Given the description of an element on the screen output the (x, y) to click on. 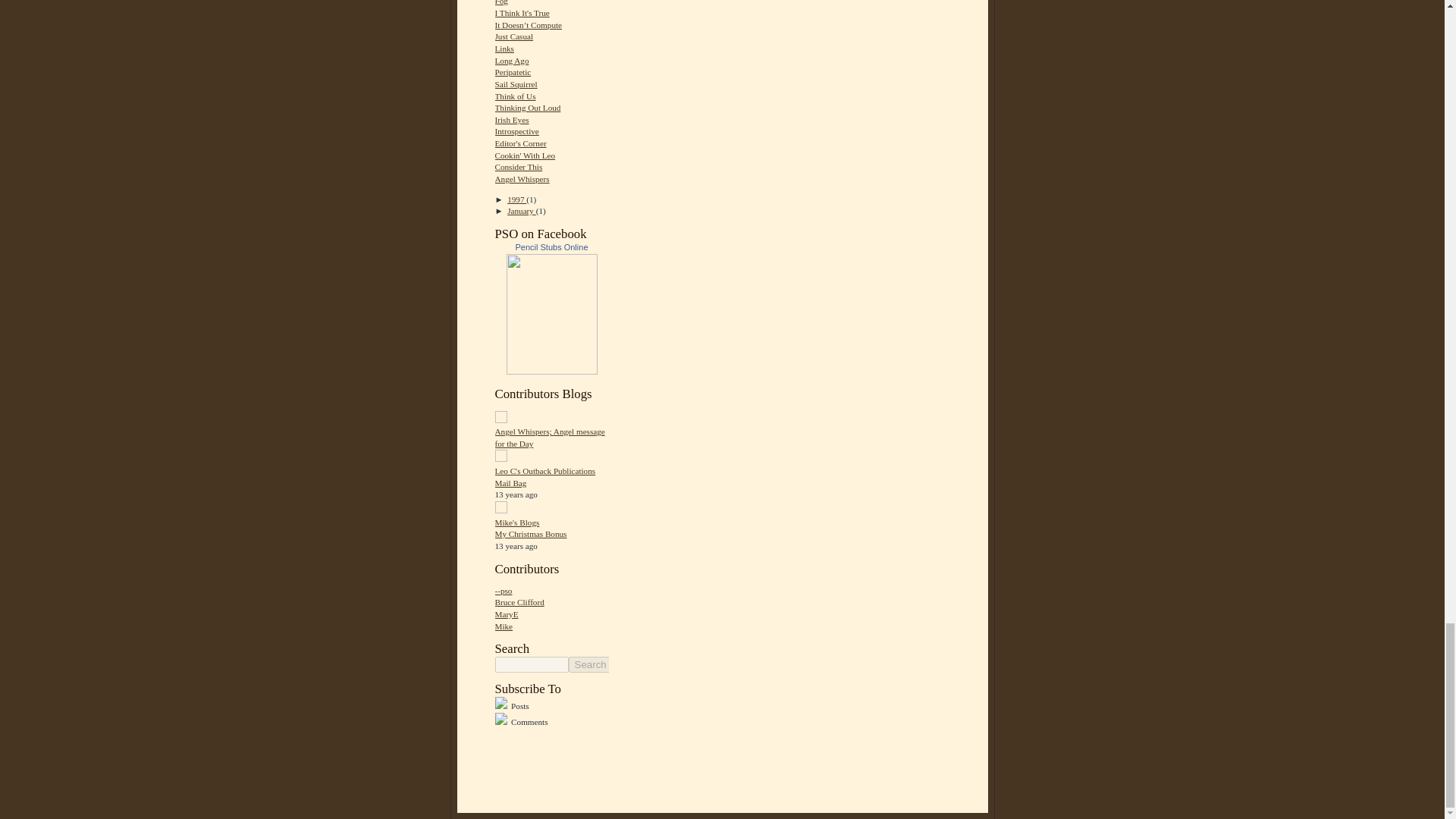
Pencil Stubs Online (551, 370)
search (531, 664)
Pencil Stubs Online (551, 246)
Search (590, 664)
search (590, 664)
Search (590, 664)
